Given the description of an element on the screen output the (x, y) to click on. 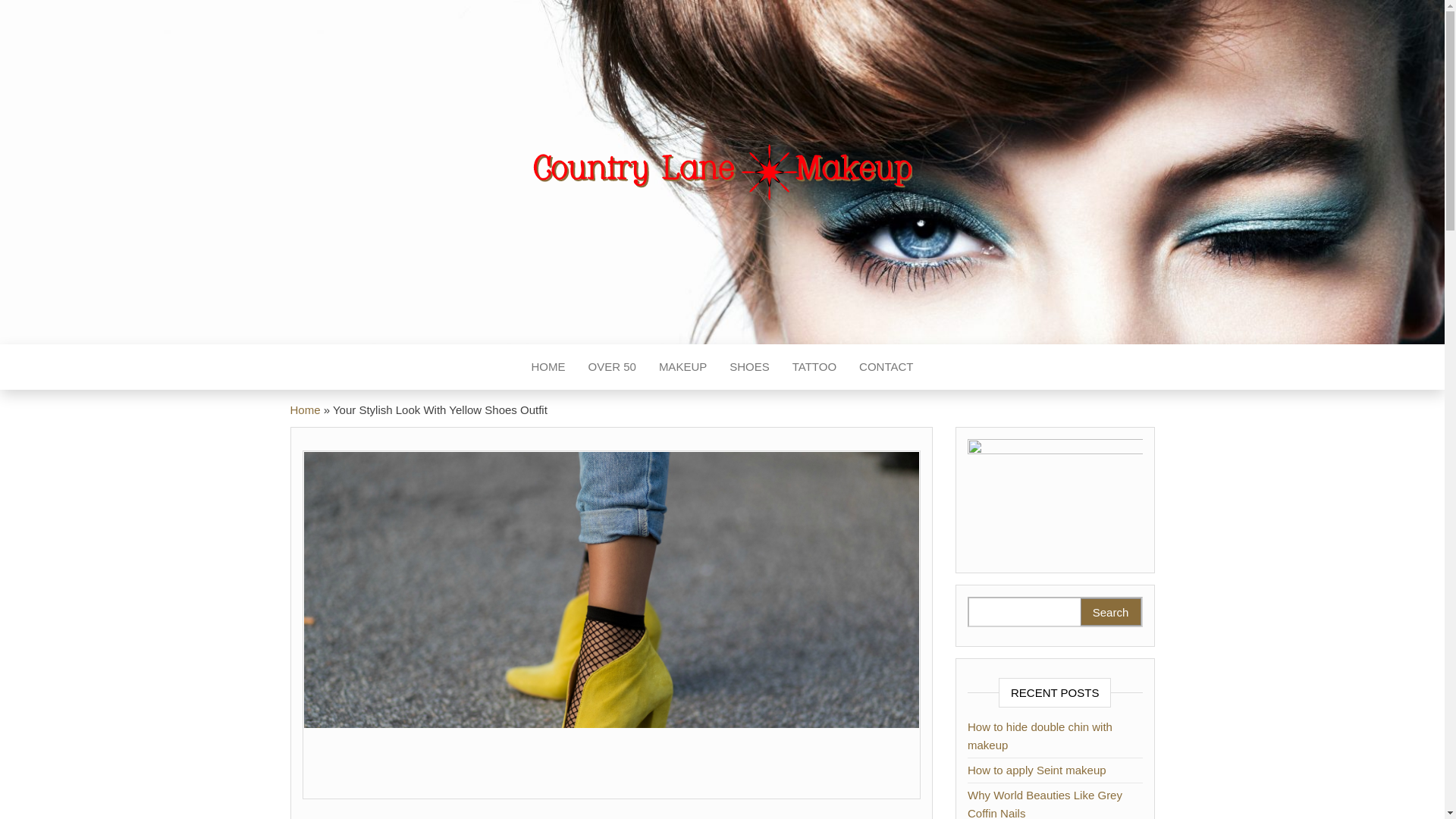
How to hide double chin with makeup (1040, 735)
Shoes (748, 366)
Makeup (682, 366)
How to apply Seint makeup (1037, 769)
OVER 50 (611, 366)
TATTOO (813, 366)
Over 50 (611, 366)
SHOES (748, 366)
CONTACT (885, 366)
Search (1110, 611)
